Given the description of an element on the screen output the (x, y) to click on. 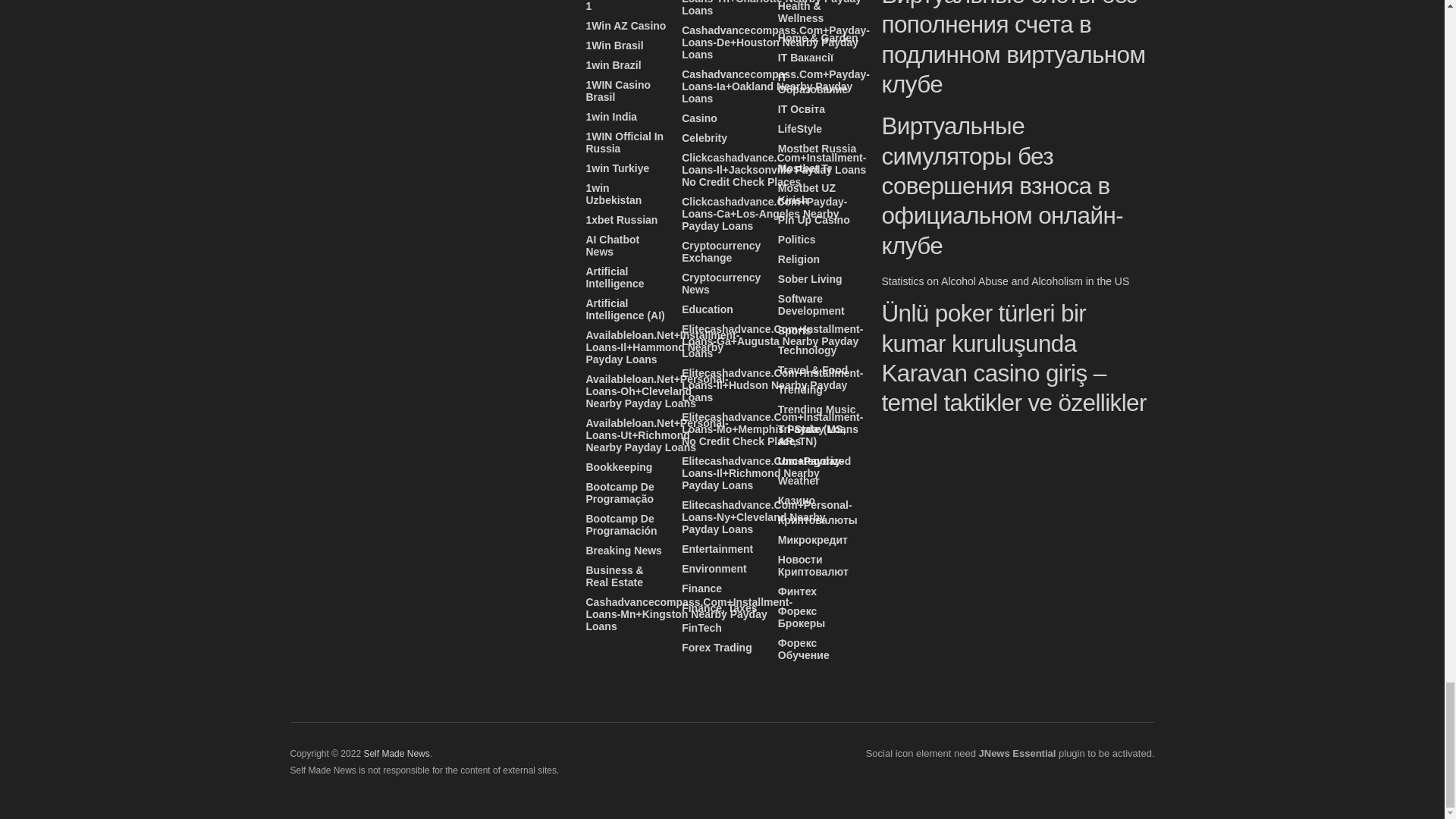
Self Made News (395, 753)
